Given the description of an element on the screen output the (x, y) to click on. 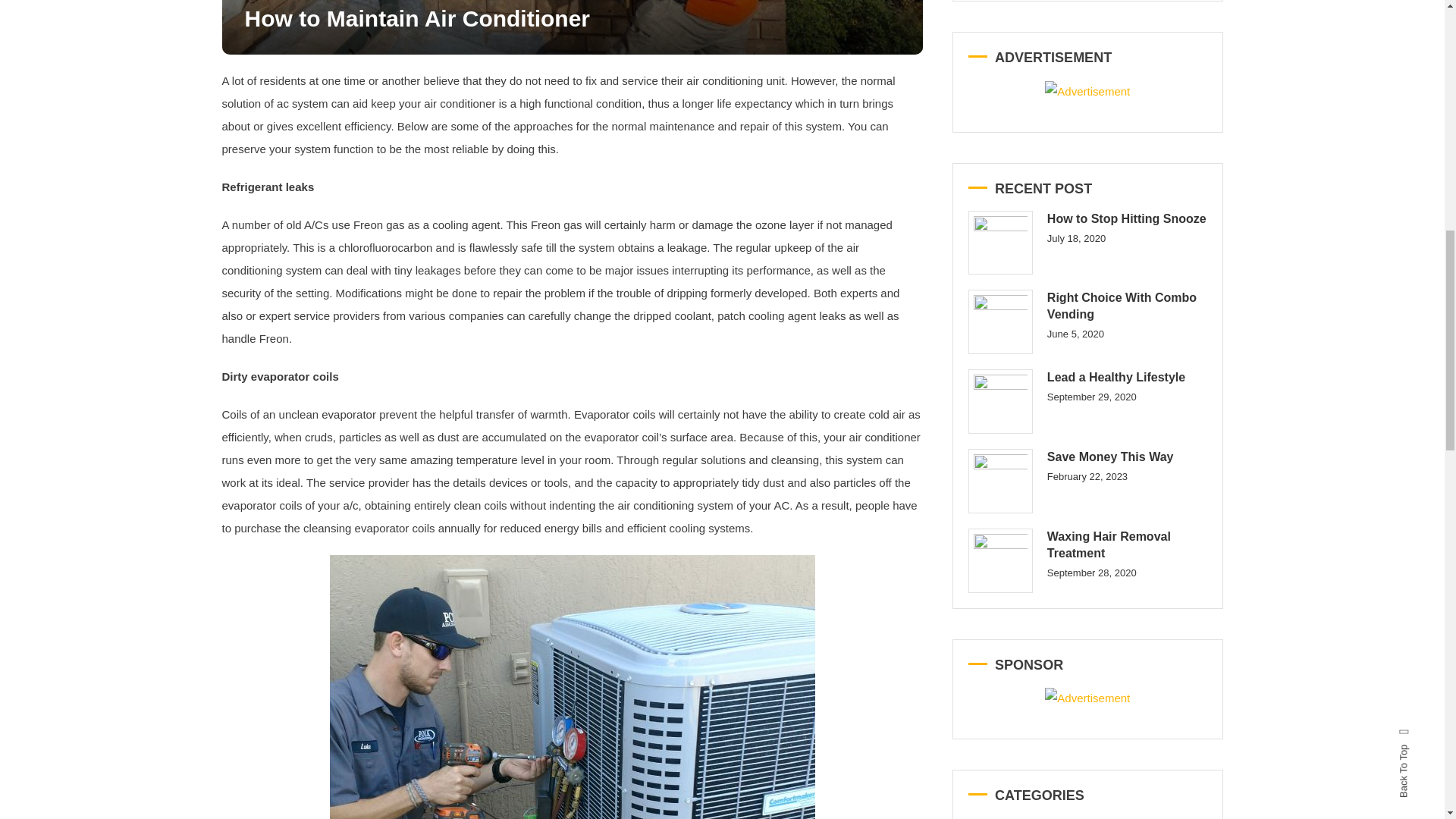
Waxing Hair Removal Treatment (1000, 560)
How to Stop Hitting Snooze (1000, 242)
How to Maintain Air Conditioner (416, 18)
Save Money This Way (1000, 480)
Lead a Healthy Lifestyle (1000, 401)
Right Choice With Combo Vending (1000, 321)
